Given the description of an element on the screen output the (x, y) to click on. 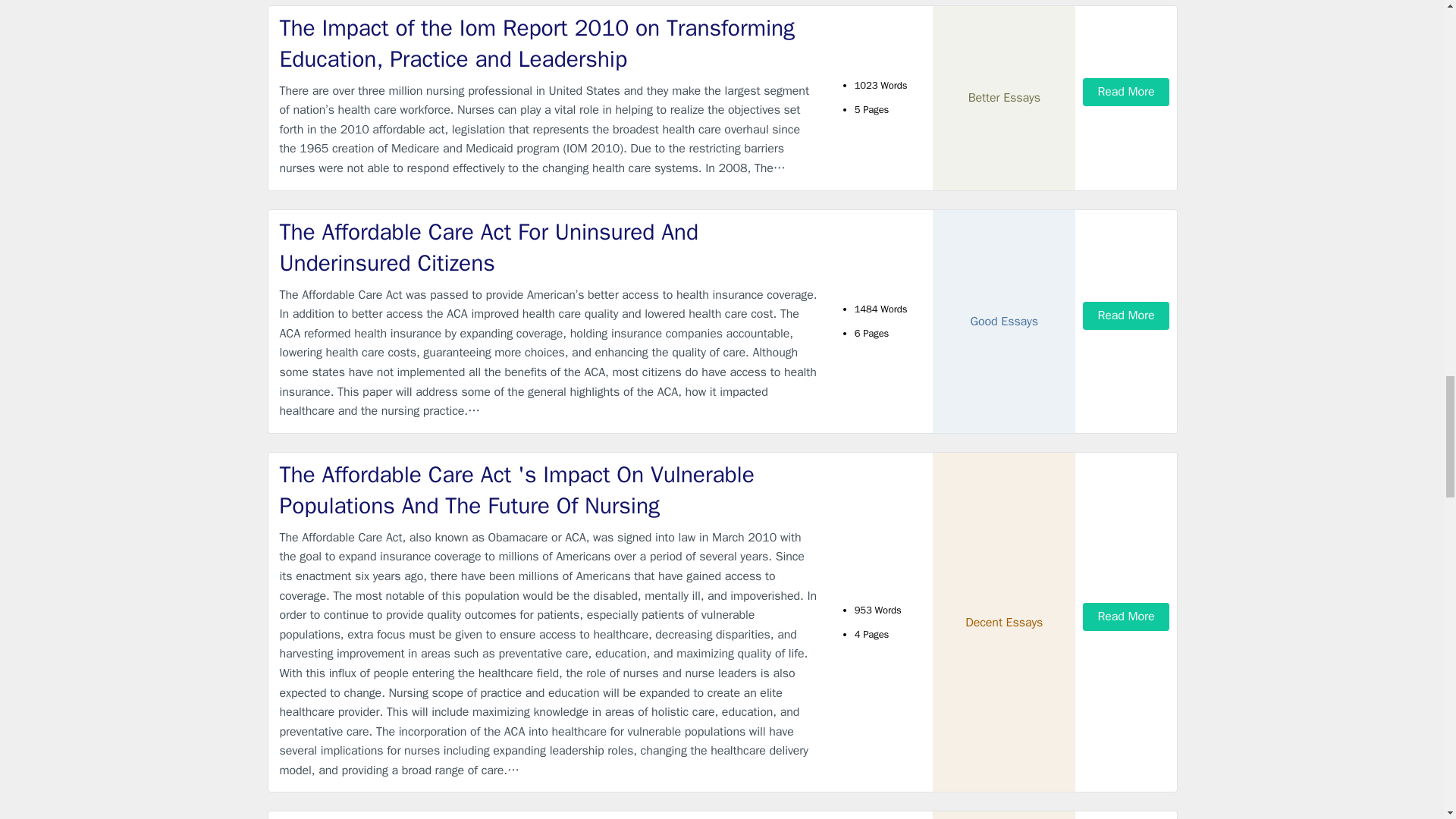
Read More (1126, 316)
Read More (1126, 91)
